Given the description of an element on the screen output the (x, y) to click on. 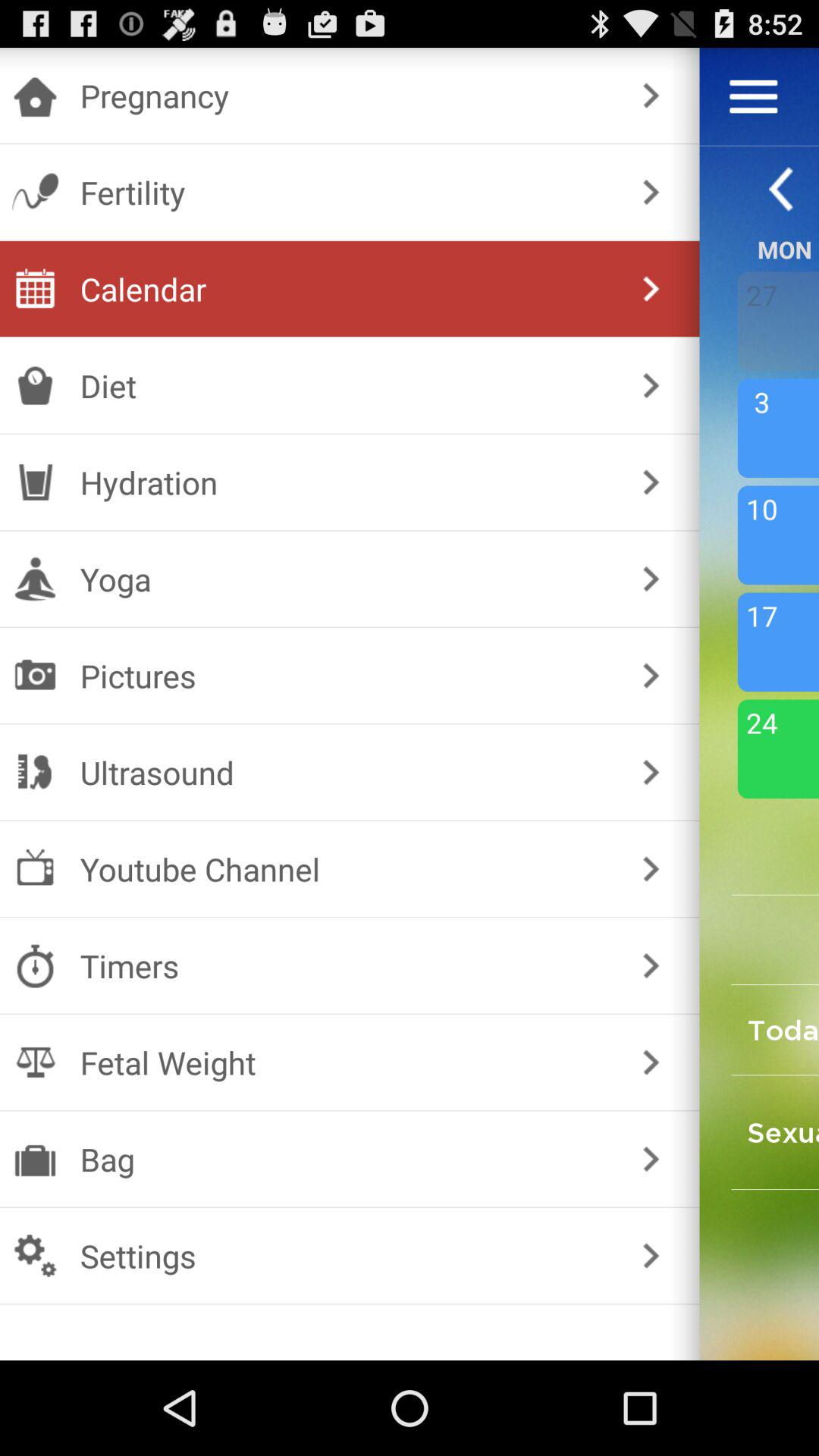
scroll until the settings checkbox (346, 1255)
